Given the description of an element on the screen output the (x, y) to click on. 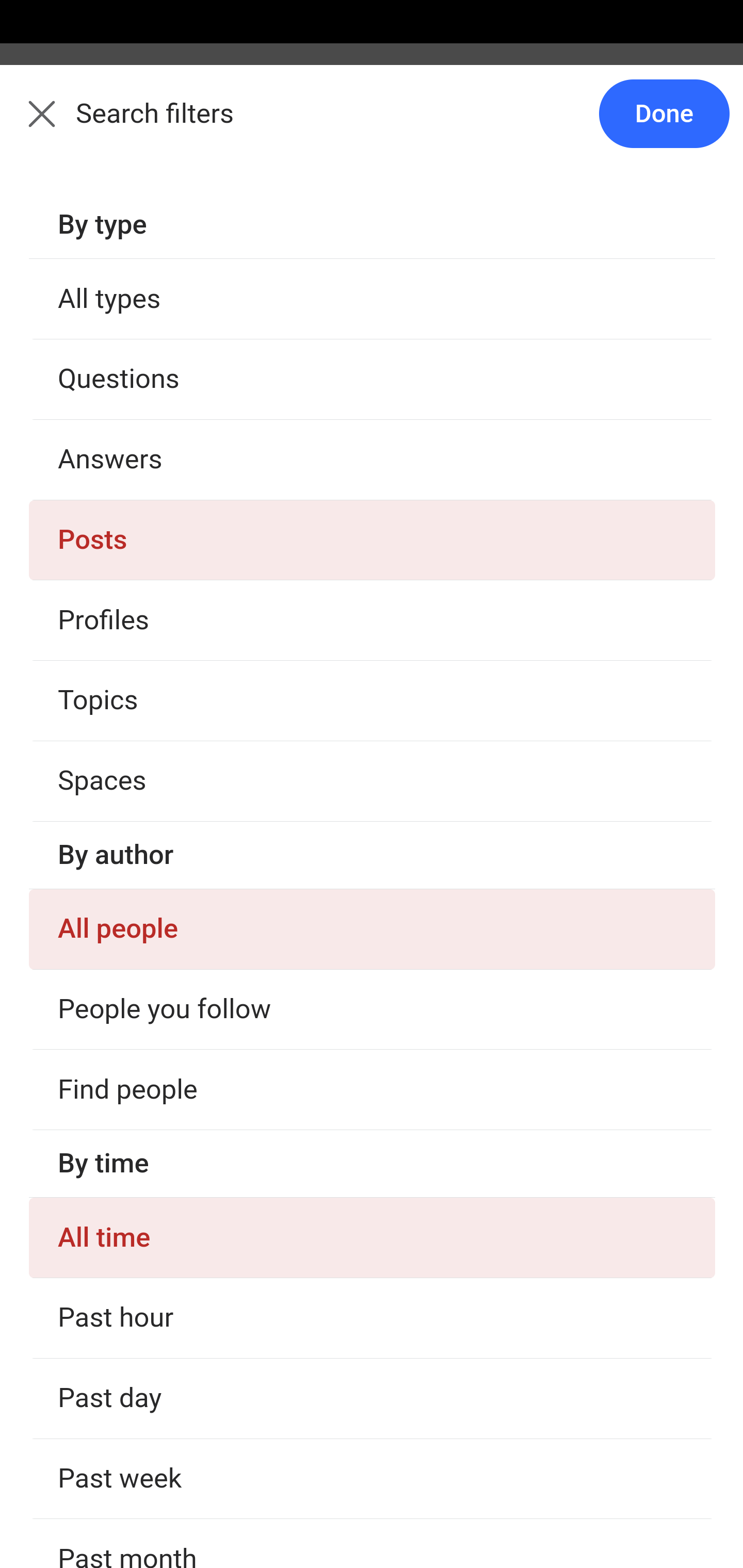
Back Search (371, 125)
Upvote (122, 544)
Upvote (122, 1255)
Answer (125, 1533)
